Given the description of an element on the screen output the (x, y) to click on. 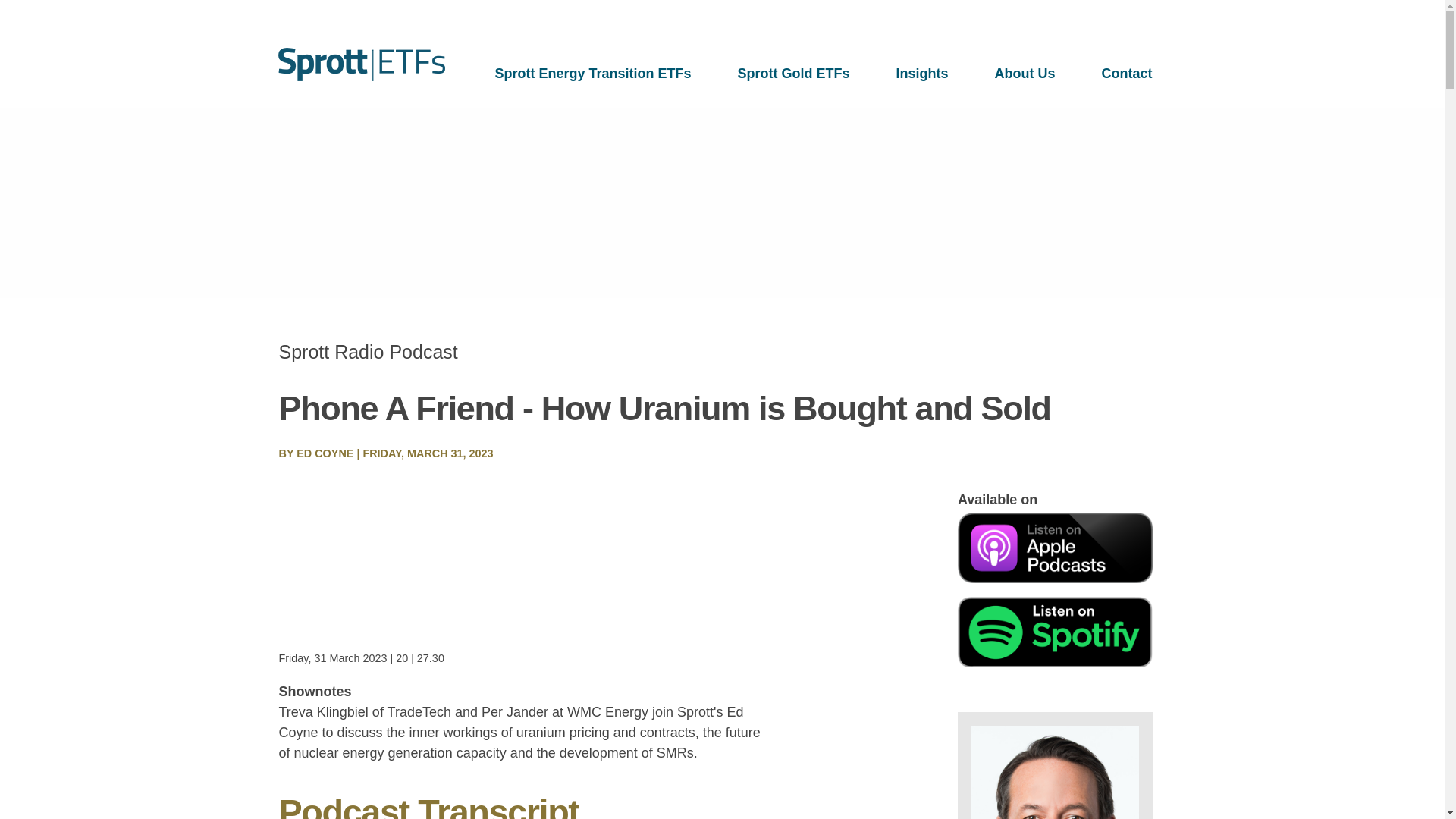
Insights (922, 72)
Sprott Gold ETFs (793, 72)
Contact (1126, 72)
About Us (1024, 72)
Sprott Energy Transition ETFs (592, 72)
